Given the description of an element on the screen output the (x, y) to click on. 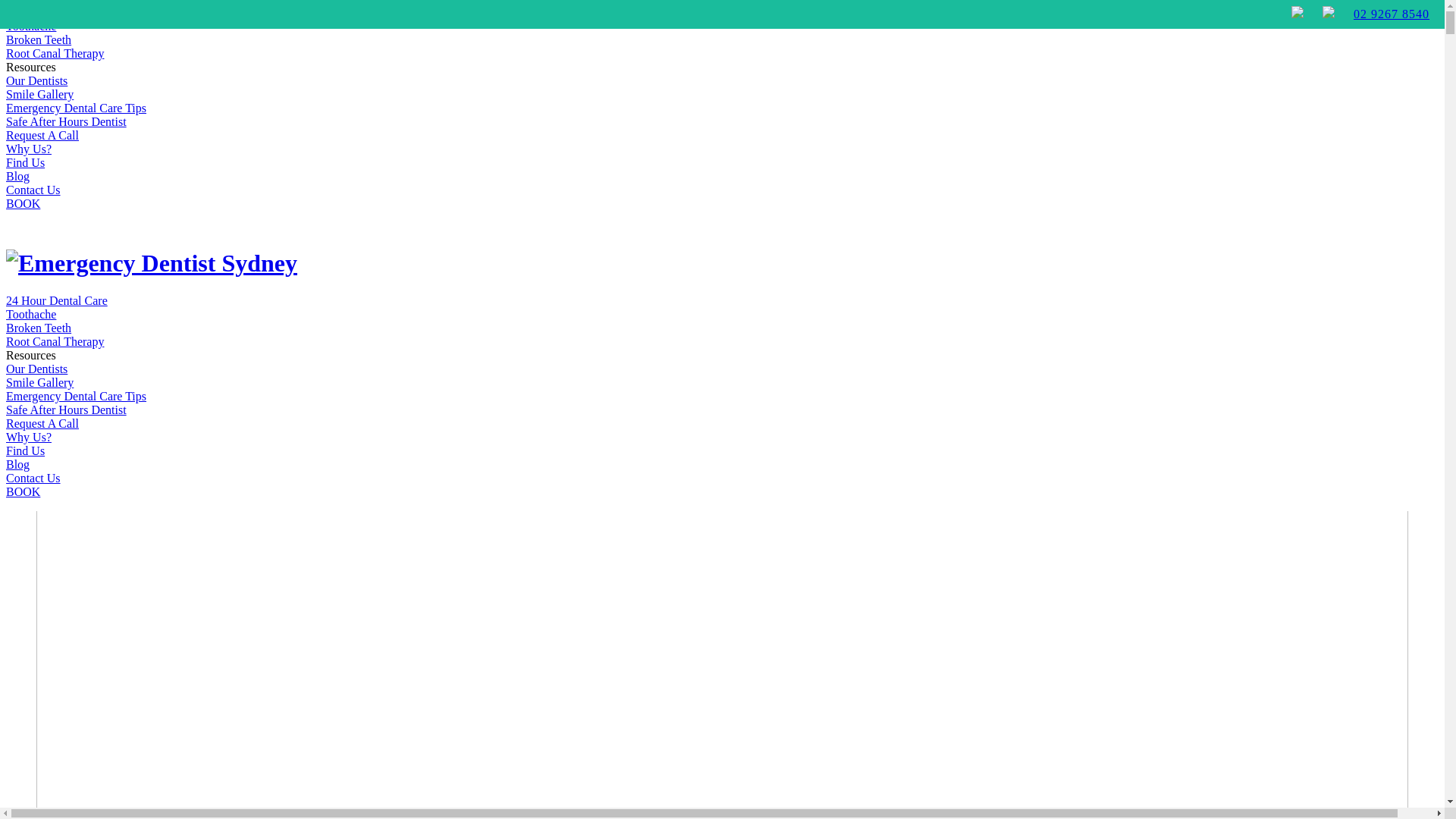
Why Us? Element type: text (28, 148)
Smile Gallery Element type: text (39, 93)
24 Hour Dental Care Element type: text (56, 12)
BOOK Element type: text (23, 491)
Our Dentists Element type: text (36, 368)
Contact Us Element type: text (33, 189)
02 9267 8540 Element type: text (1391, 13)
Emergency Dental Care Tips Element type: text (76, 395)
Find Us Element type: text (25, 162)
Root Canal Therapy Element type: text (54, 341)
Request A Call Element type: text (42, 423)
Blog Element type: text (17, 175)
Safe After Hours Dentist Element type: text (66, 121)
Blog Element type: text (17, 464)
Broken Teeth Element type: text (38, 39)
24 Hour Dental Care Element type: text (56, 300)
BOOK Element type: text (23, 203)
Our Dentists Element type: text (36, 80)
Broken Teeth Element type: text (38, 327)
Root Canal Therapy Element type: text (54, 53)
Safe After Hours Dentist Element type: text (66, 409)
Smile Gallery Element type: text (39, 382)
Toothache Element type: text (31, 313)
Request A Call Element type: text (42, 134)
Why Us? Element type: text (28, 436)
Emergency Dental Care Tips Element type: text (76, 107)
Toothache Element type: text (31, 25)
Find Us Element type: text (25, 450)
Contact Us Element type: text (33, 477)
